Given the description of an element on the screen output the (x, y) to click on. 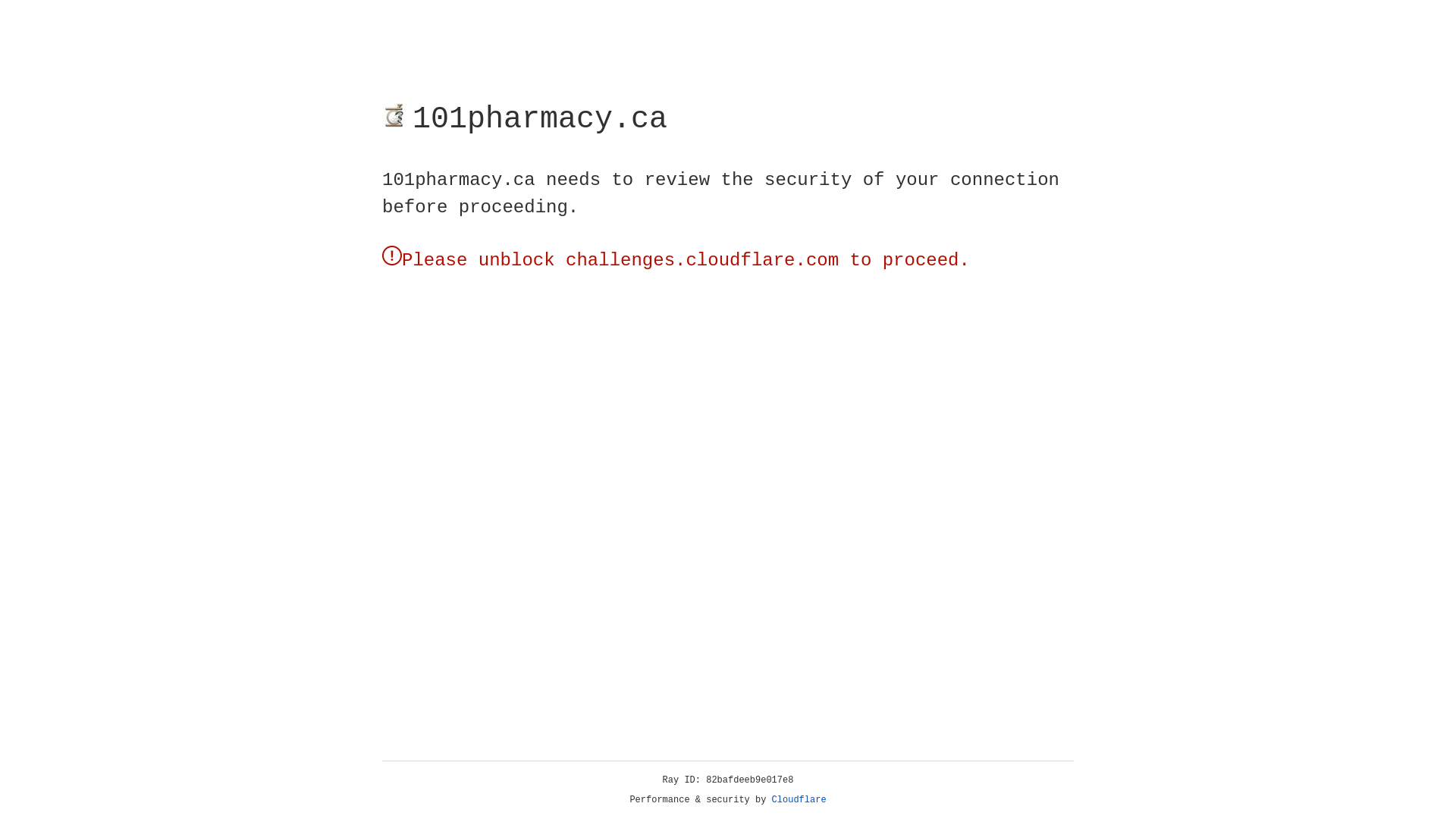
Cloudflare Element type: text (798, 799)
